Given the description of an element on the screen output the (x, y) to click on. 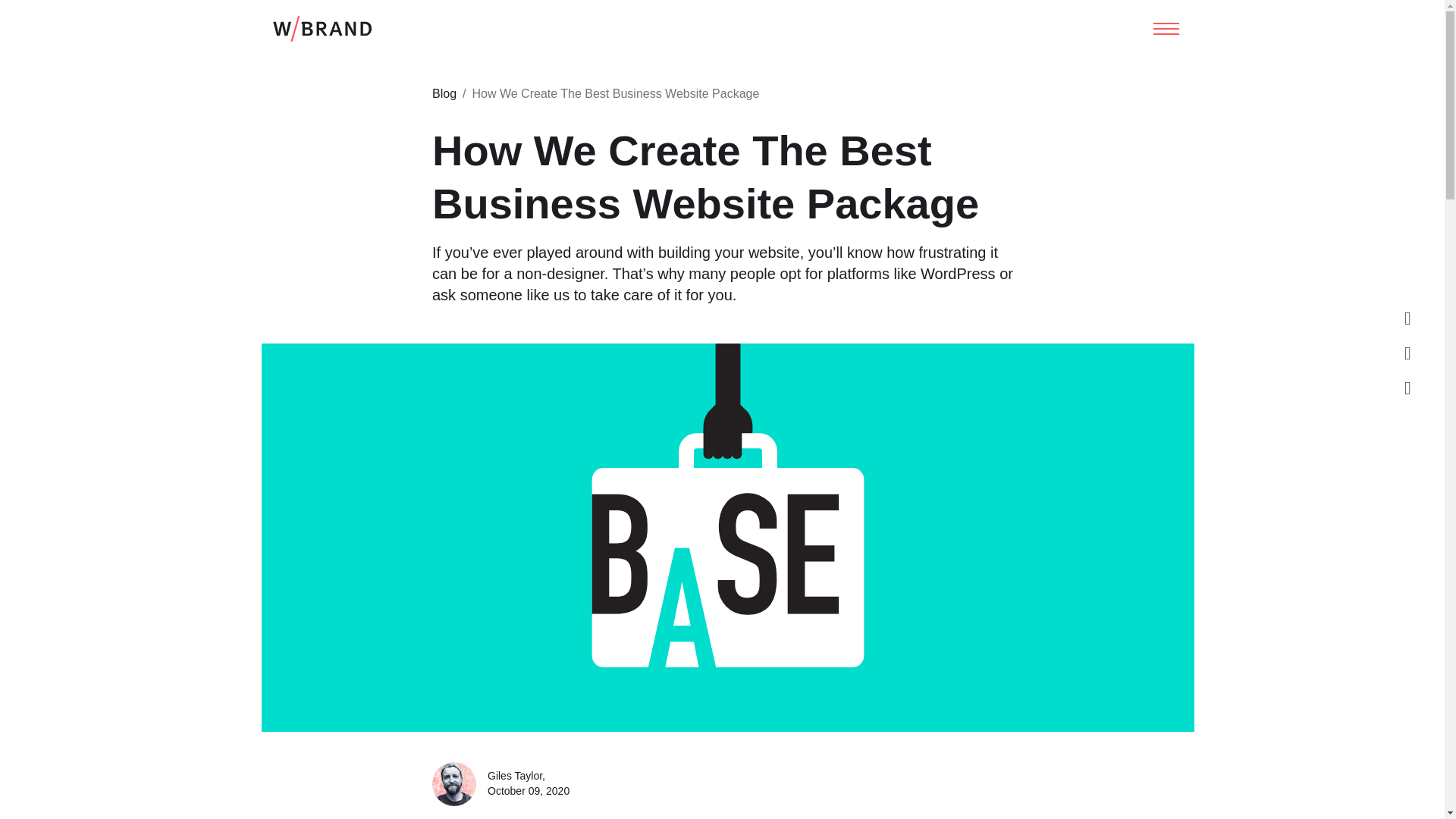
Share on LinkedIn (1407, 318)
Blog (444, 92)
Share on Facebook (1407, 388)
Share on Twitter (1407, 352)
